Given the description of an element on the screen output the (x, y) to click on. 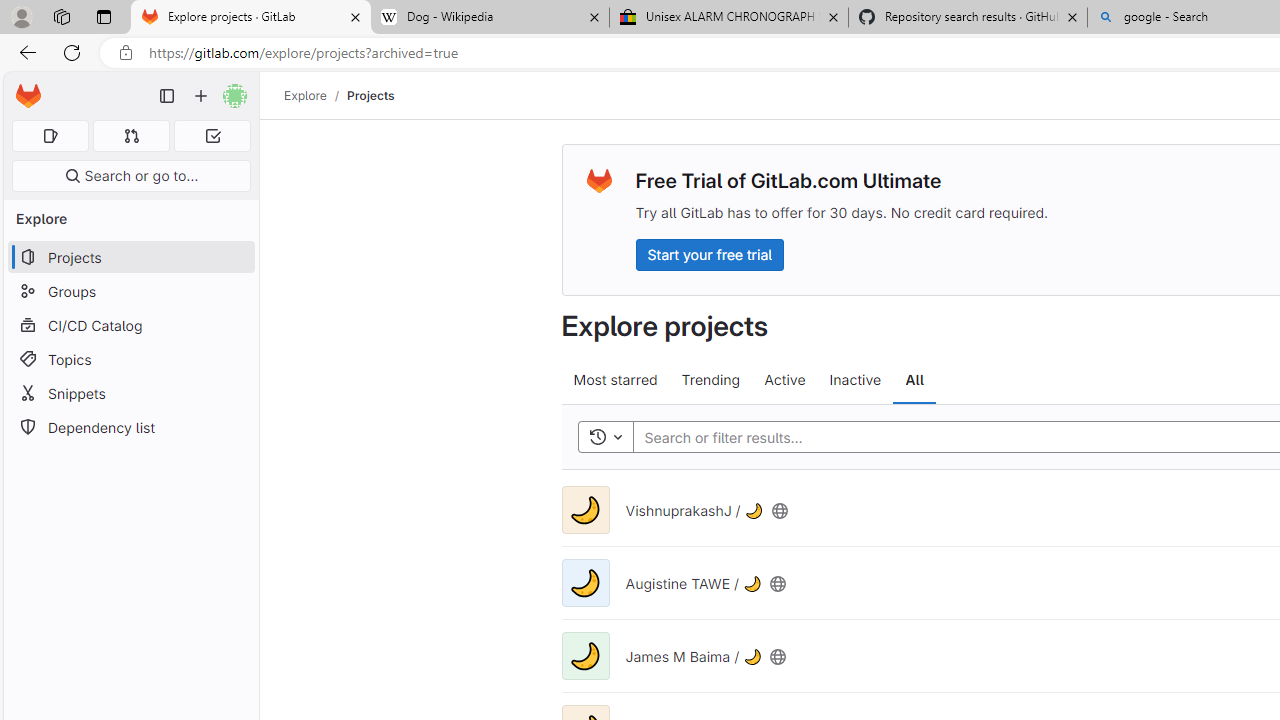
Dog - Wikipedia (490, 17)
Explore (305, 95)
Explore/ (316, 95)
Topics (130, 358)
Snippets (130, 393)
Assigned issues 0 (50, 136)
Primary navigation sidebar (167, 96)
Snippets (130, 393)
